Given the description of an element on the screen output the (x, y) to click on. 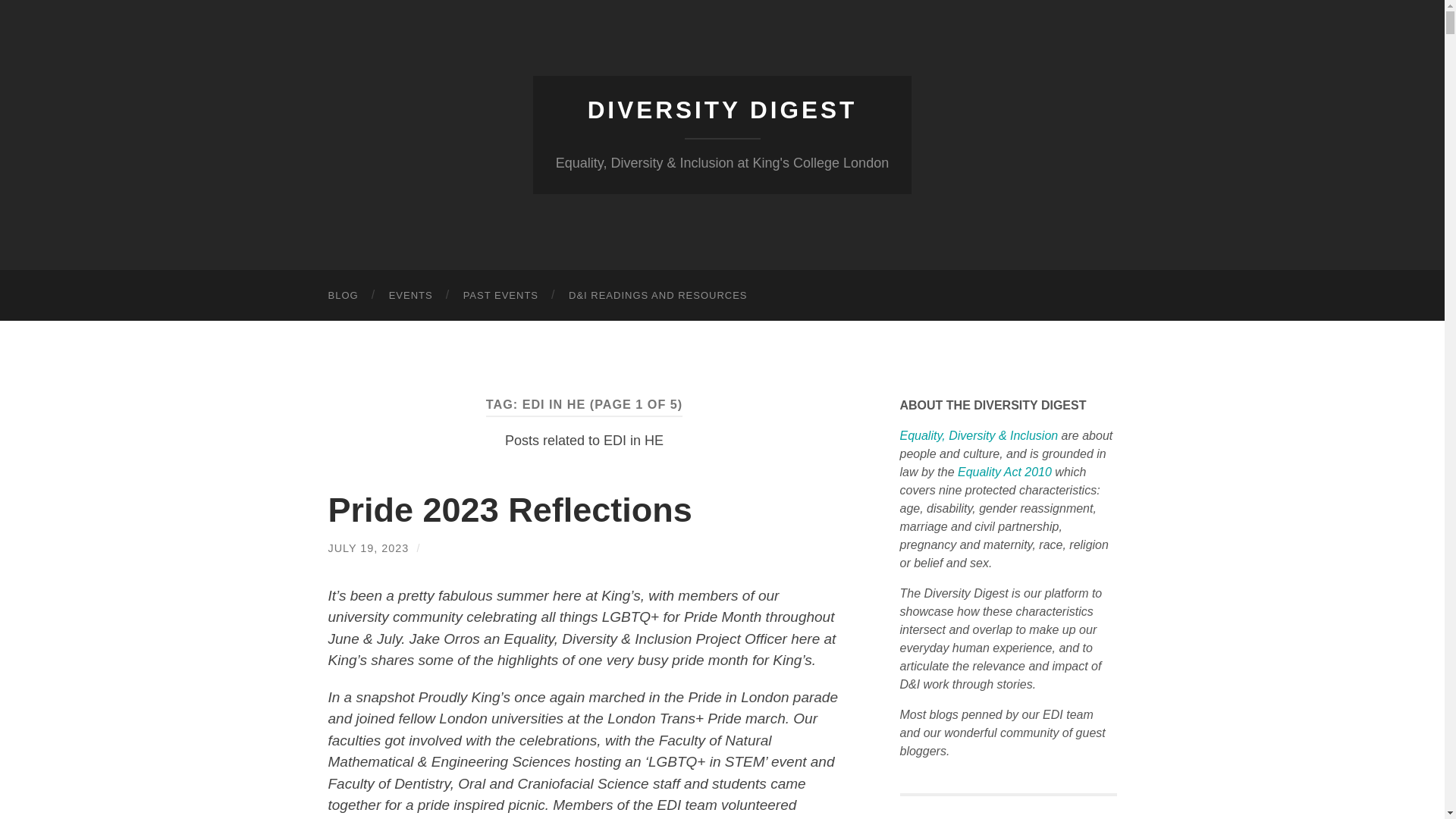
BLOG (342, 295)
Pride 2023 Reflections (509, 509)
EVENTS (411, 295)
PAST EVENTS (500, 295)
DIVERSITY DIGEST (722, 109)
JULY 19, 2023 (368, 548)
